Given the description of an element on the screen output the (x, y) to click on. 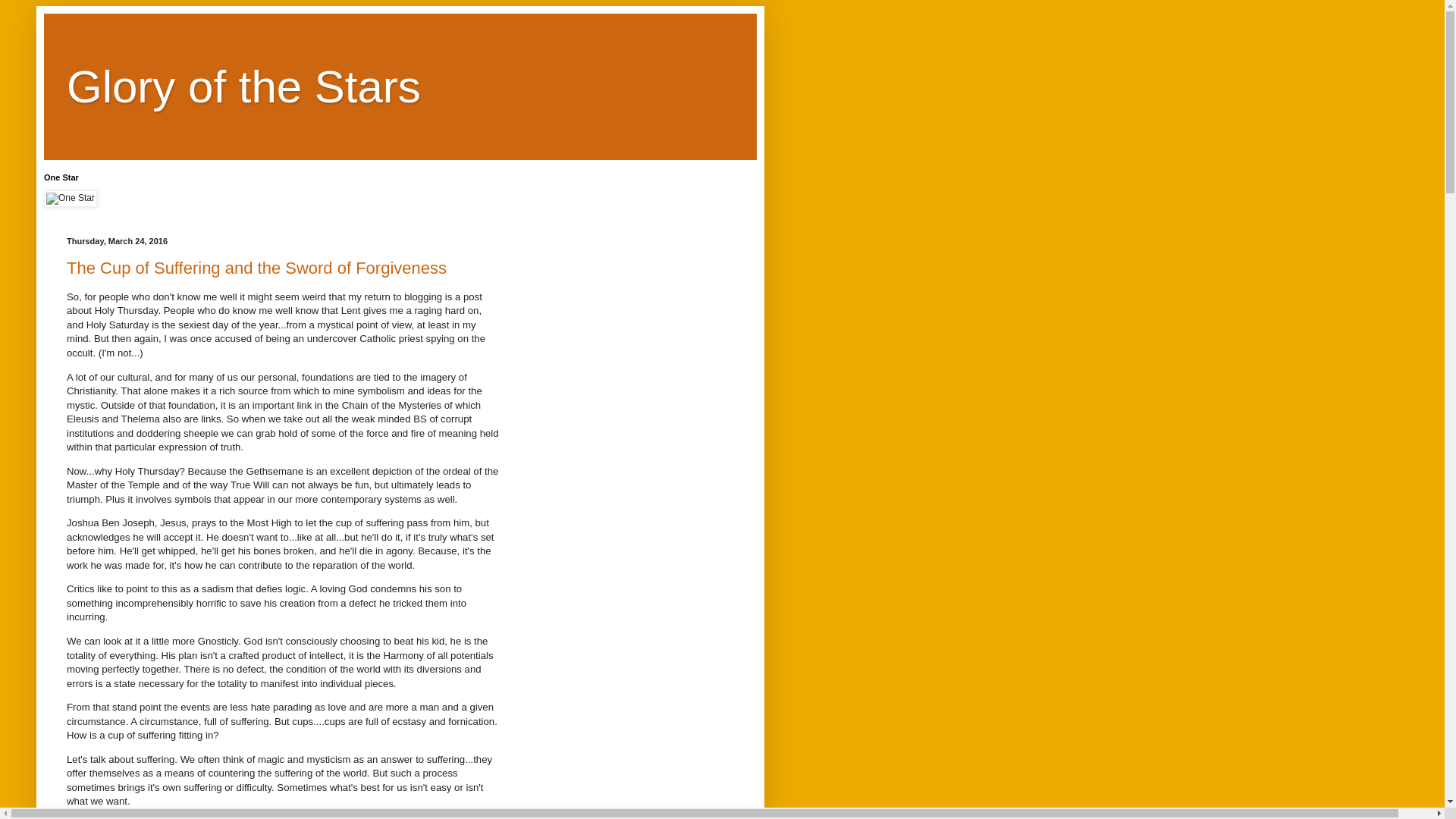
The Cup of Suffering and the Sword of Forgiveness (256, 267)
Glory of the Stars (243, 86)
